Given the description of an element on the screen output the (x, y) to click on. 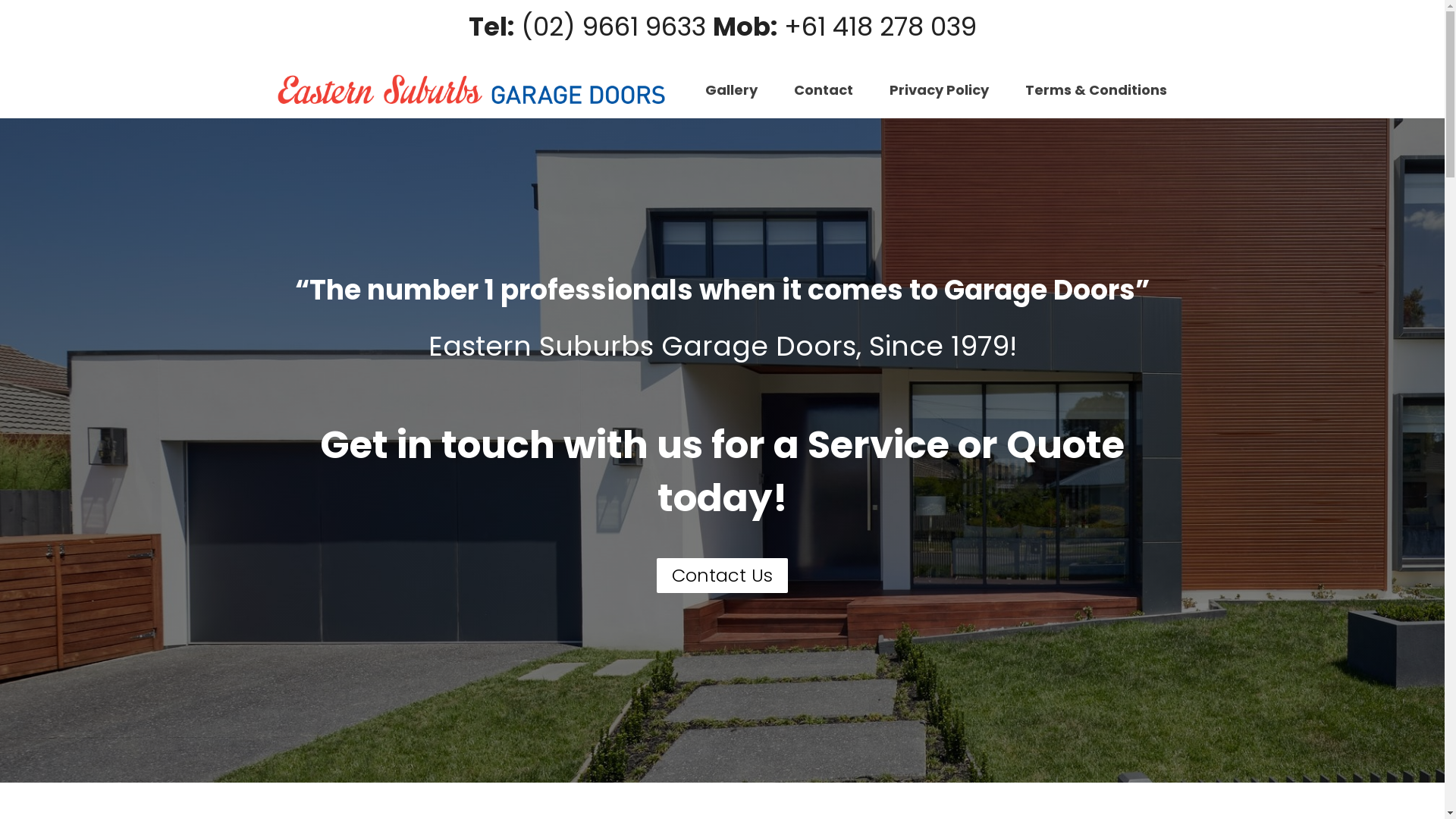
Privacy Policy Element type: text (939, 89)
Eastern Suburbs Garage Doors Element type: hover (472, 89)
Contact Element type: text (823, 89)
Terms & Conditions Element type: text (1096, 89)
Contact Us Element type: text (721, 575)
Gallery Element type: text (731, 89)
